Given the description of an element on the screen output the (x, y) to click on. 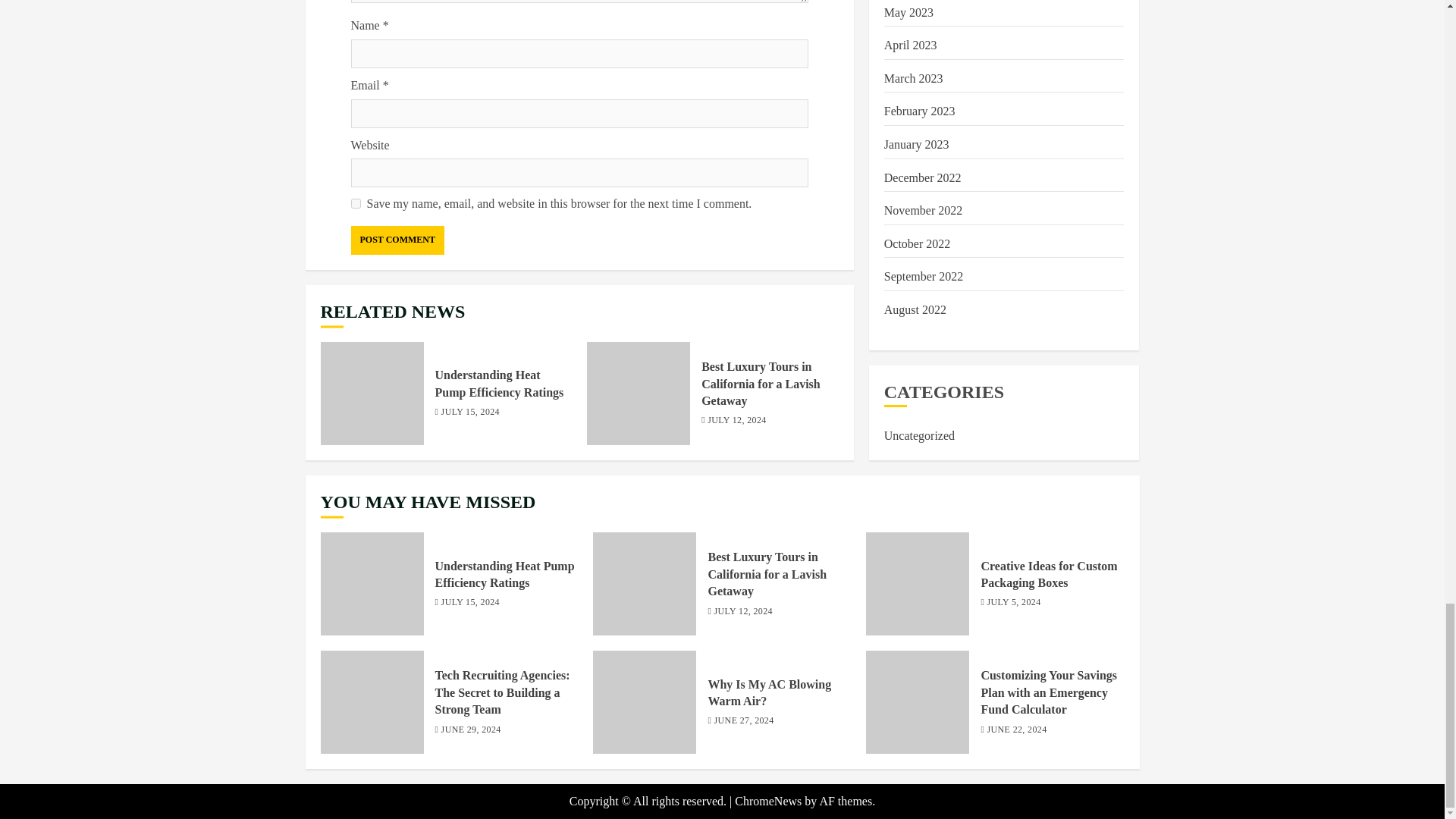
Post Comment (397, 240)
Best Luxury Tours in California for a Lavish Getaway (638, 393)
Understanding Heat Pump Efficiency Ratings (499, 383)
Best Luxury Tours in California for a Lavish Getaway (761, 383)
yes (354, 203)
Understanding Heat Pump Efficiency Ratings (371, 393)
Post Comment (397, 240)
